Given the description of an element on the screen output the (x, y) to click on. 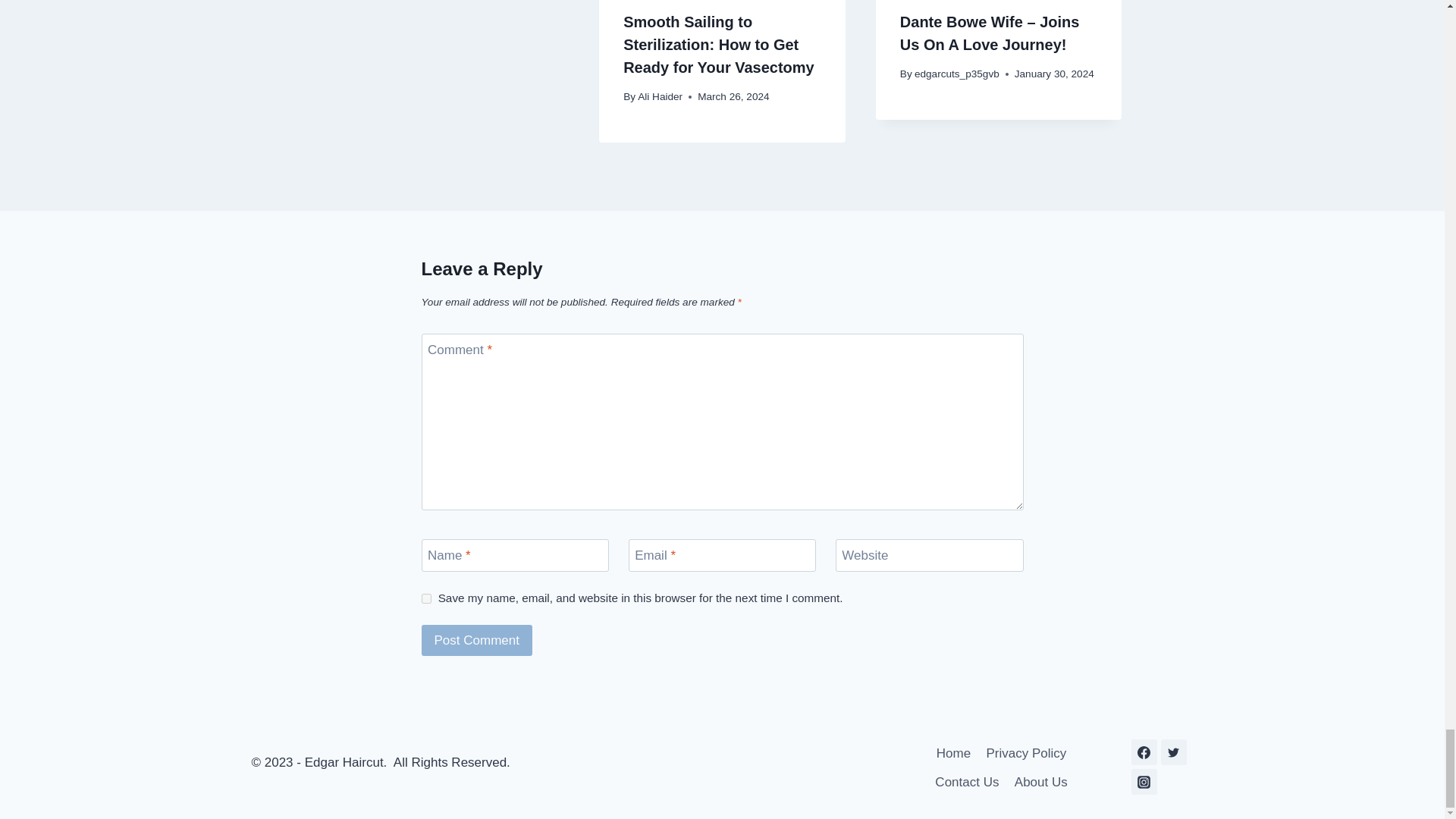
Post Comment (477, 640)
yes (426, 598)
